Given the description of an element on the screen output the (x, y) to click on. 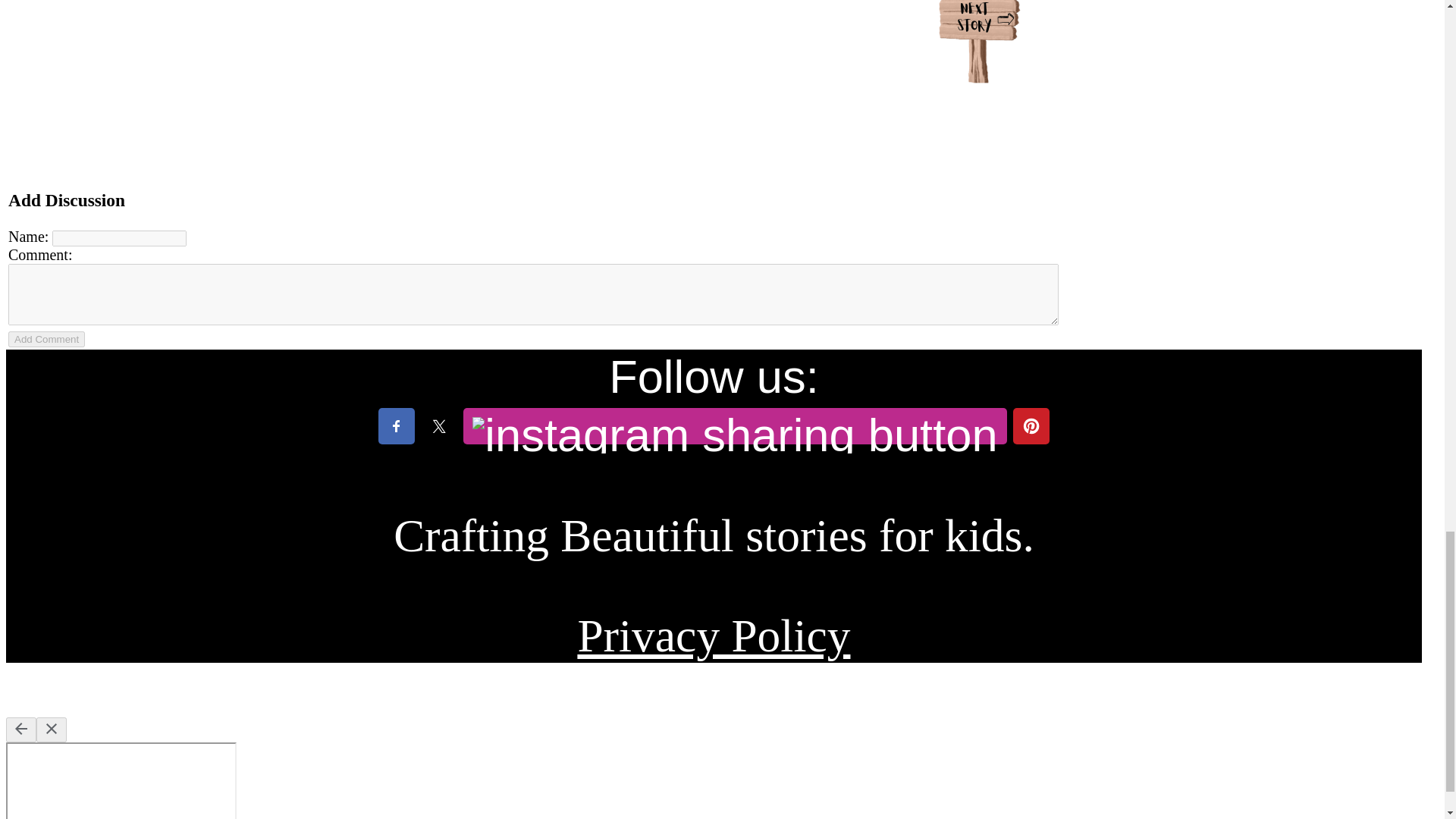
Privacy Policy (713, 634)
Add Comment (46, 339)
